Given the description of an element on the screen output the (x, y) to click on. 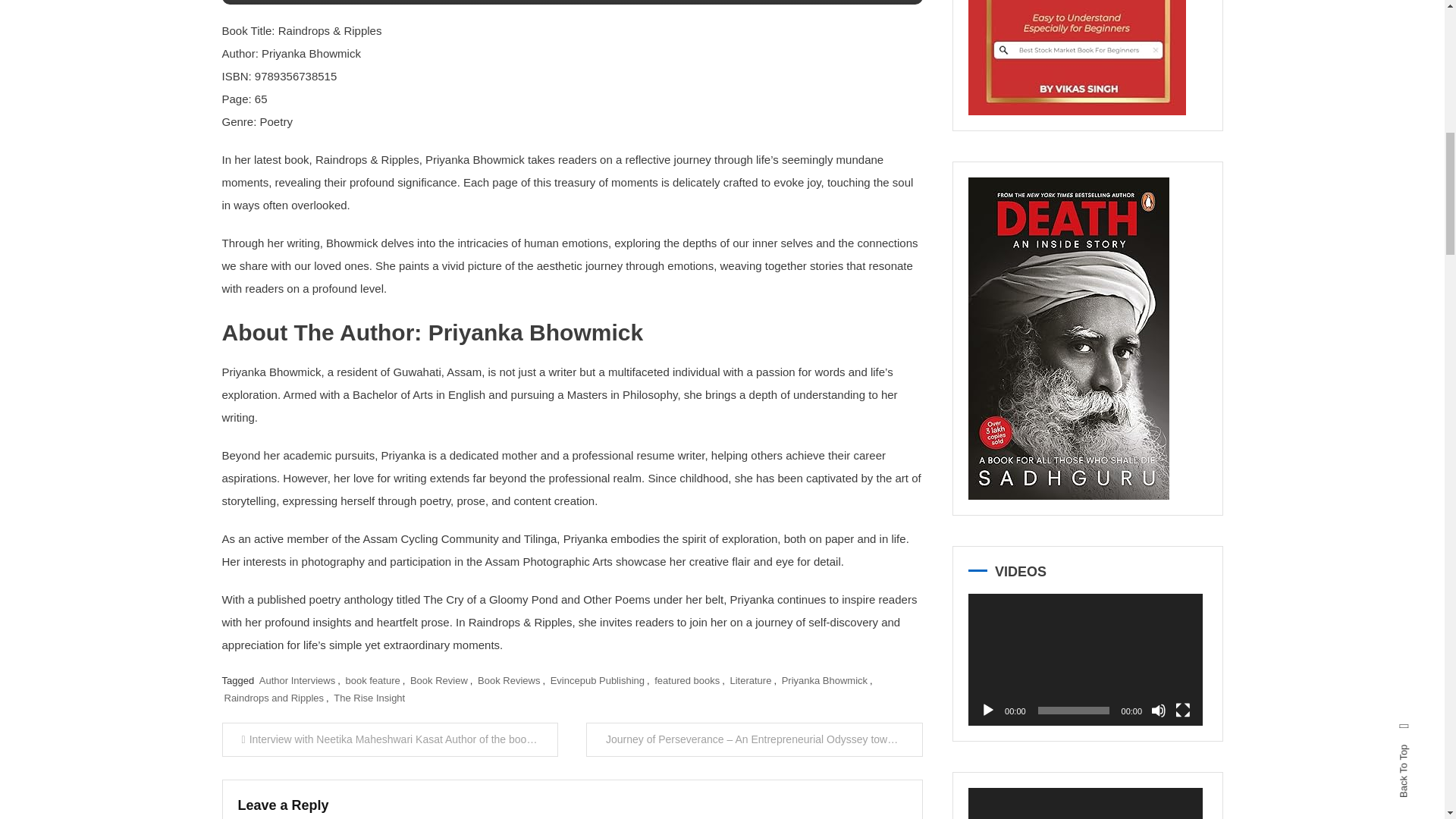
Fullscreen (1182, 710)
Play (987, 710)
Mute (1158, 710)
